Given the description of an element on the screen output the (x, y) to click on. 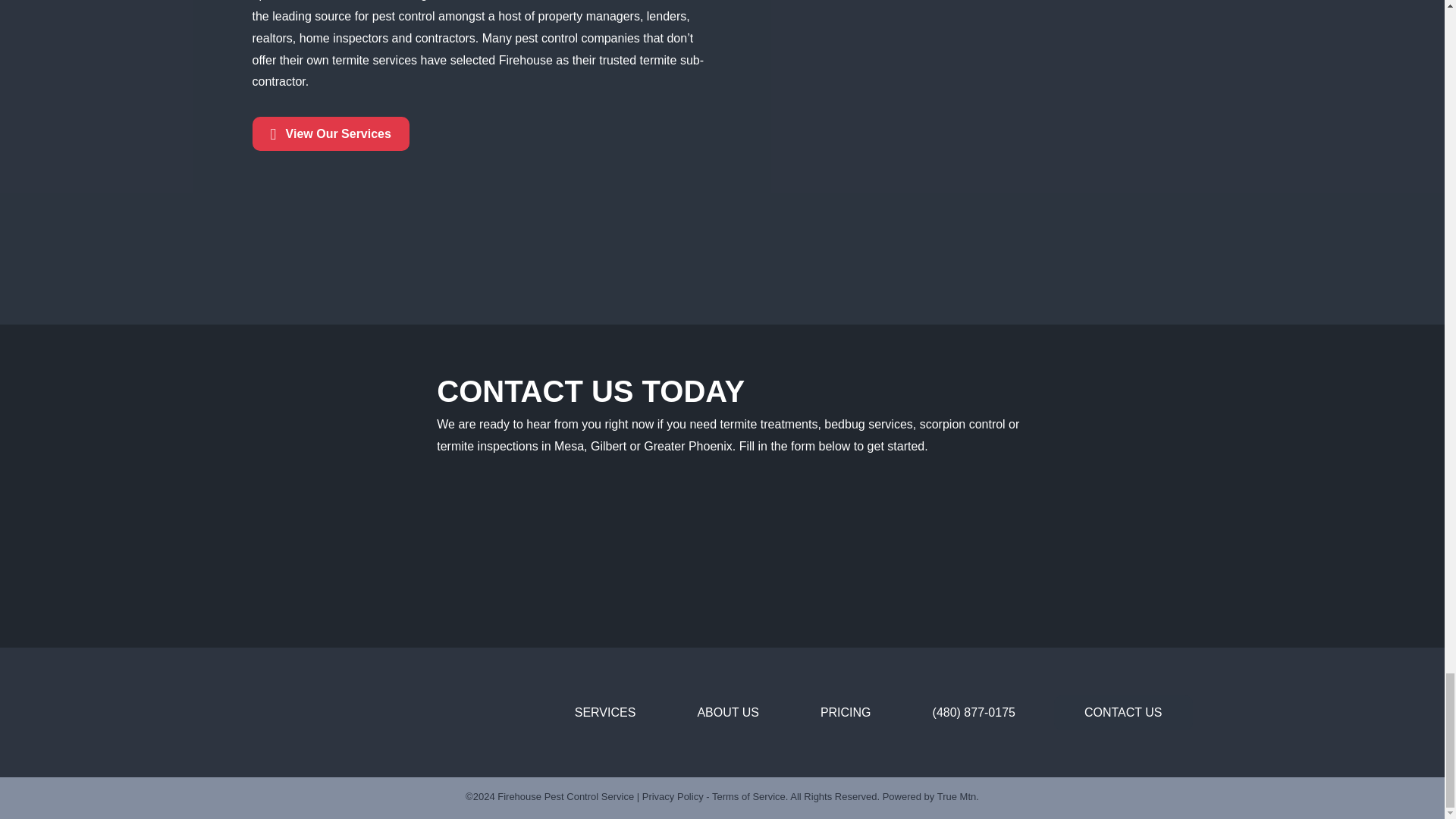
A2P Compliant Lead Form - Home Page (740, 538)
View Our Services (330, 133)
firehouse pest (296, 712)
SERVICES (605, 712)
